Given the description of an element on the screen output the (x, y) to click on. 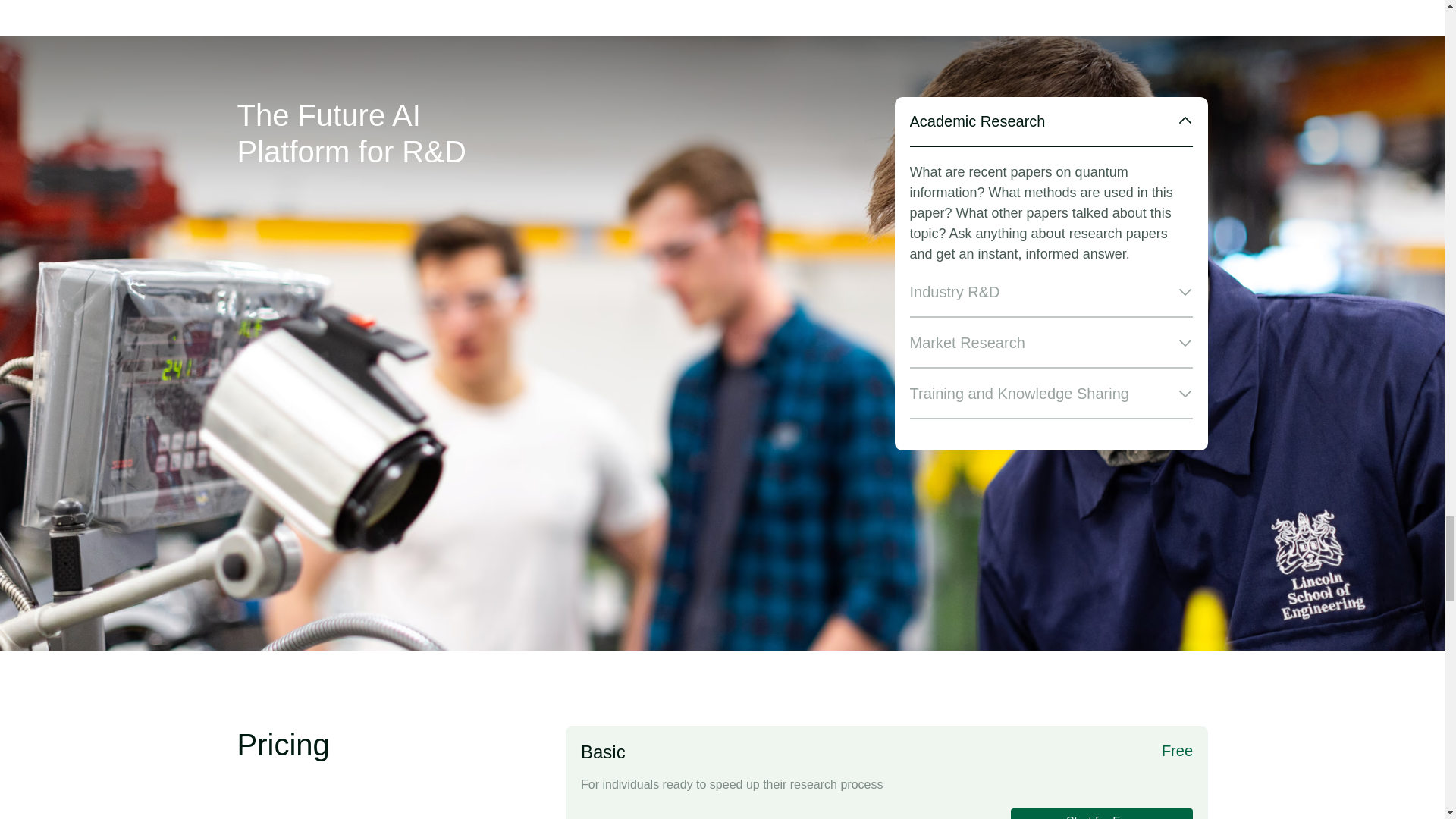
Start for Free (1101, 813)
